Given the description of an element on the screen output the (x, y) to click on. 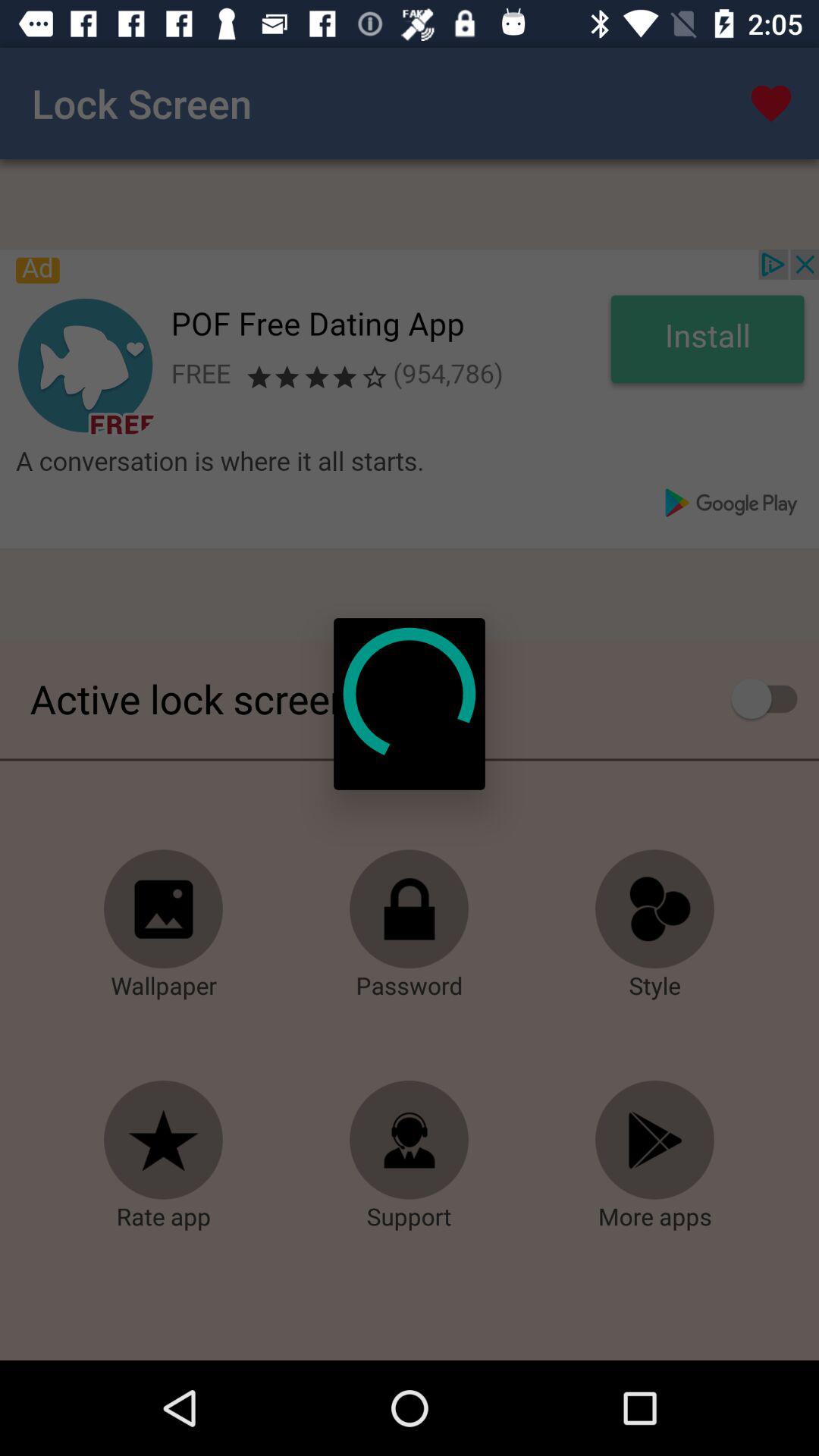
toggle active lock screen option (771, 698)
